Given the description of an element on the screen output the (x, y) to click on. 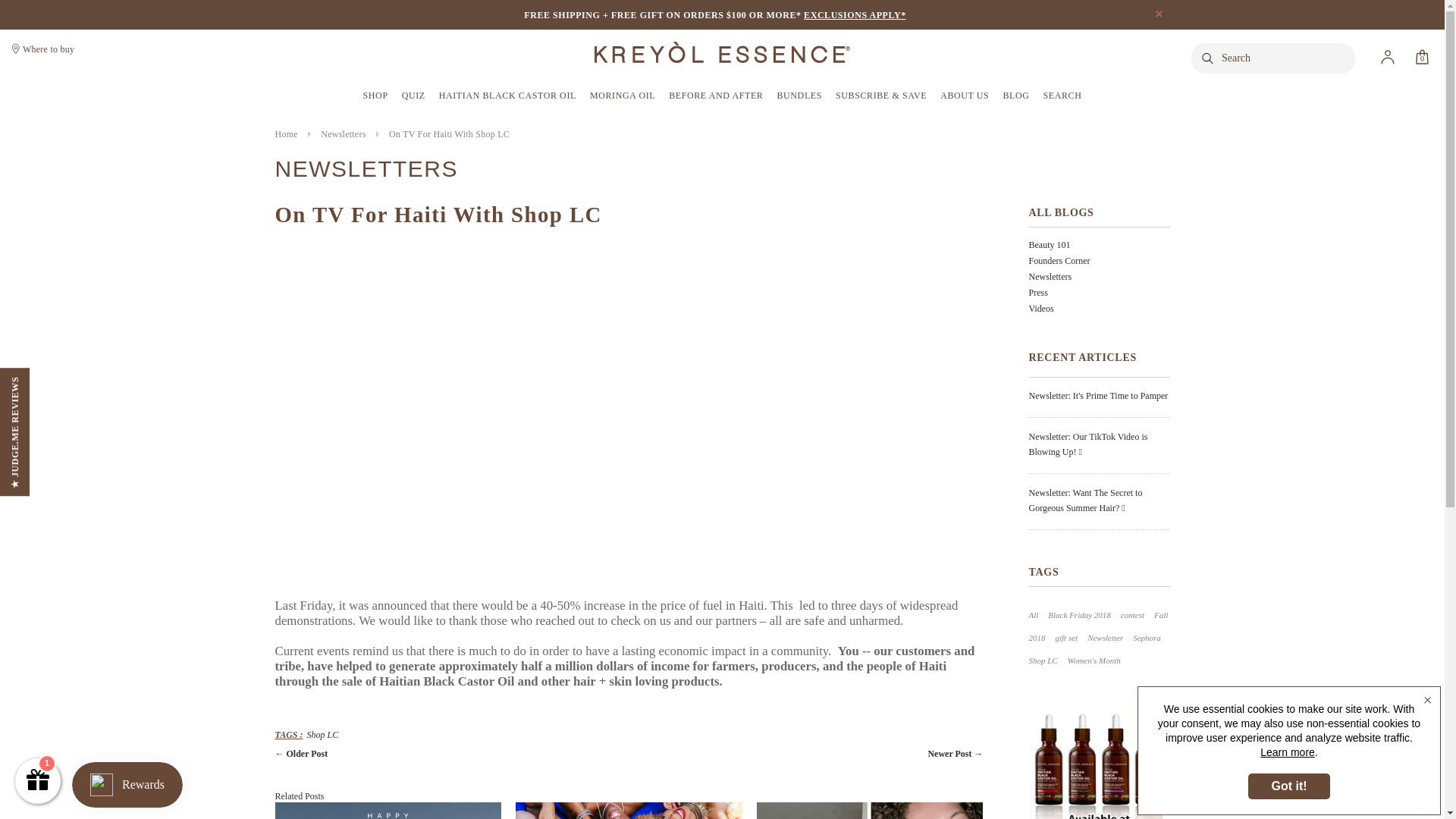
Search (1208, 57)
QUIZ (413, 95)
1 (37, 780)
Show articles tagged Fall 2018 (1097, 626)
Show articles tagged Shop LC (1042, 660)
HAITIAN BLACK CASTOR OIL (507, 95)
Show articles tagged Sephora (1146, 637)
Show articles tagged gift set (1066, 637)
CLOSE (1158, 13)
SHOP (375, 95)
BUNDLES (799, 95)
BEFORE AND AFTER (715, 95)
0 (1422, 56)
ABOUT US (964, 95)
MORINGA OIL (622, 95)
